Given the description of an element on the screen output the (x, y) to click on. 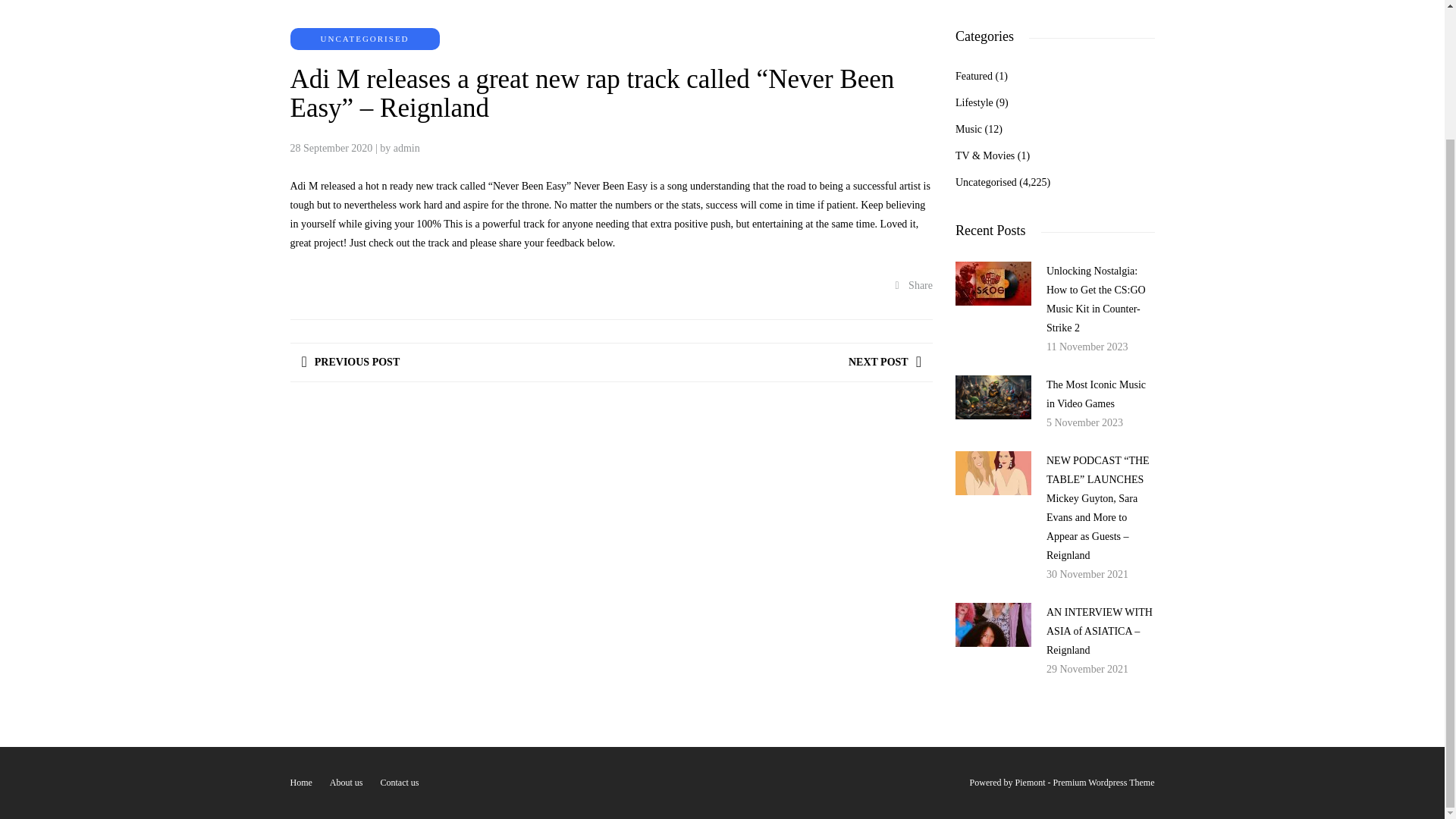
Featured (973, 75)
NEXT POST (884, 362)
The Most Iconic Music in Video Games (1095, 394)
Uncategorised (985, 182)
PREVIOUS POST (350, 362)
Home (300, 782)
Share (914, 285)
Lifestyle (973, 102)
UNCATEGORISED (364, 38)
Music (968, 129)
